Given the description of an element on the screen output the (x, y) to click on. 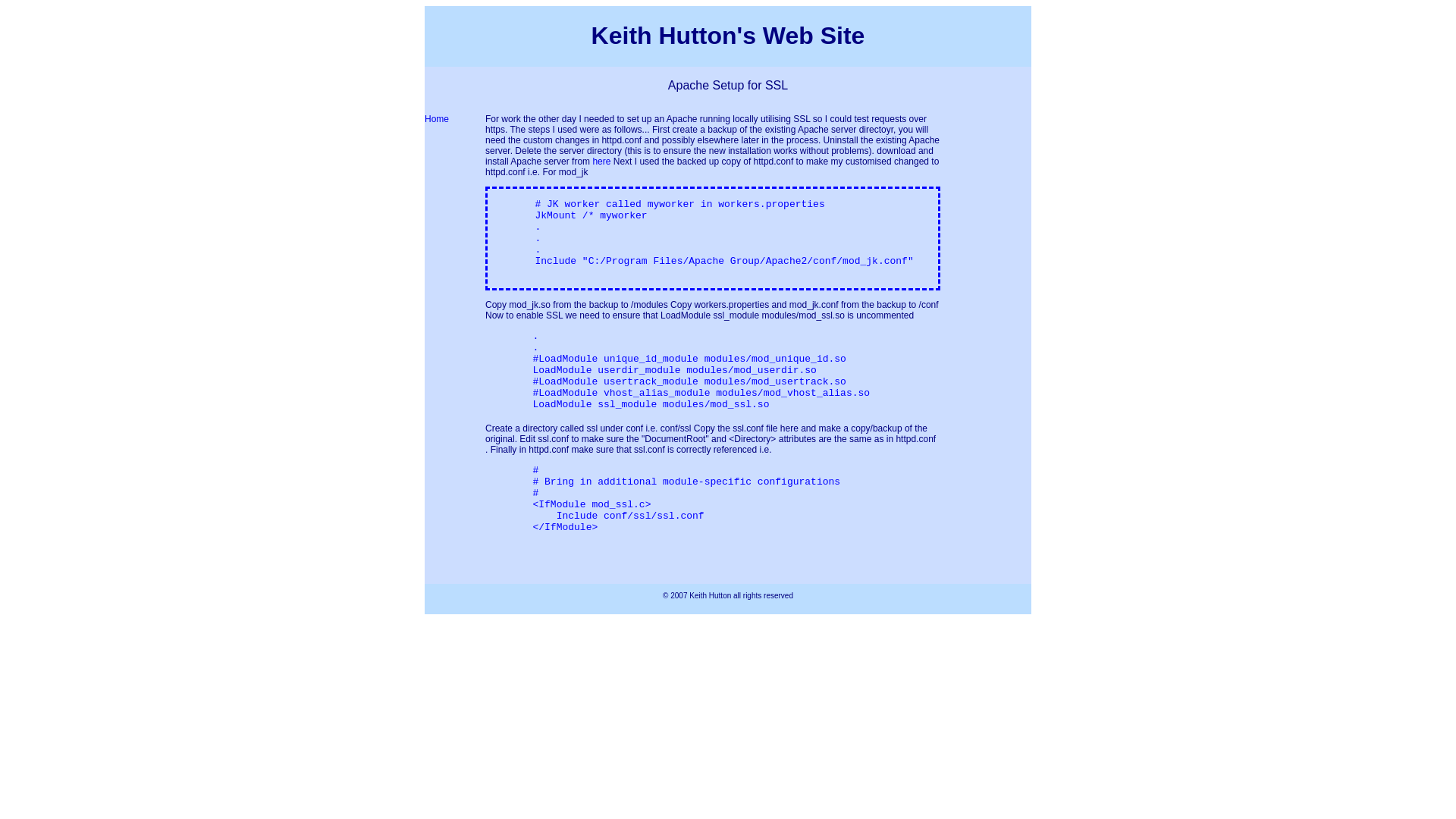
here (601, 161)
Home (436, 118)
